Given the description of an element on the screen output the (x, y) to click on. 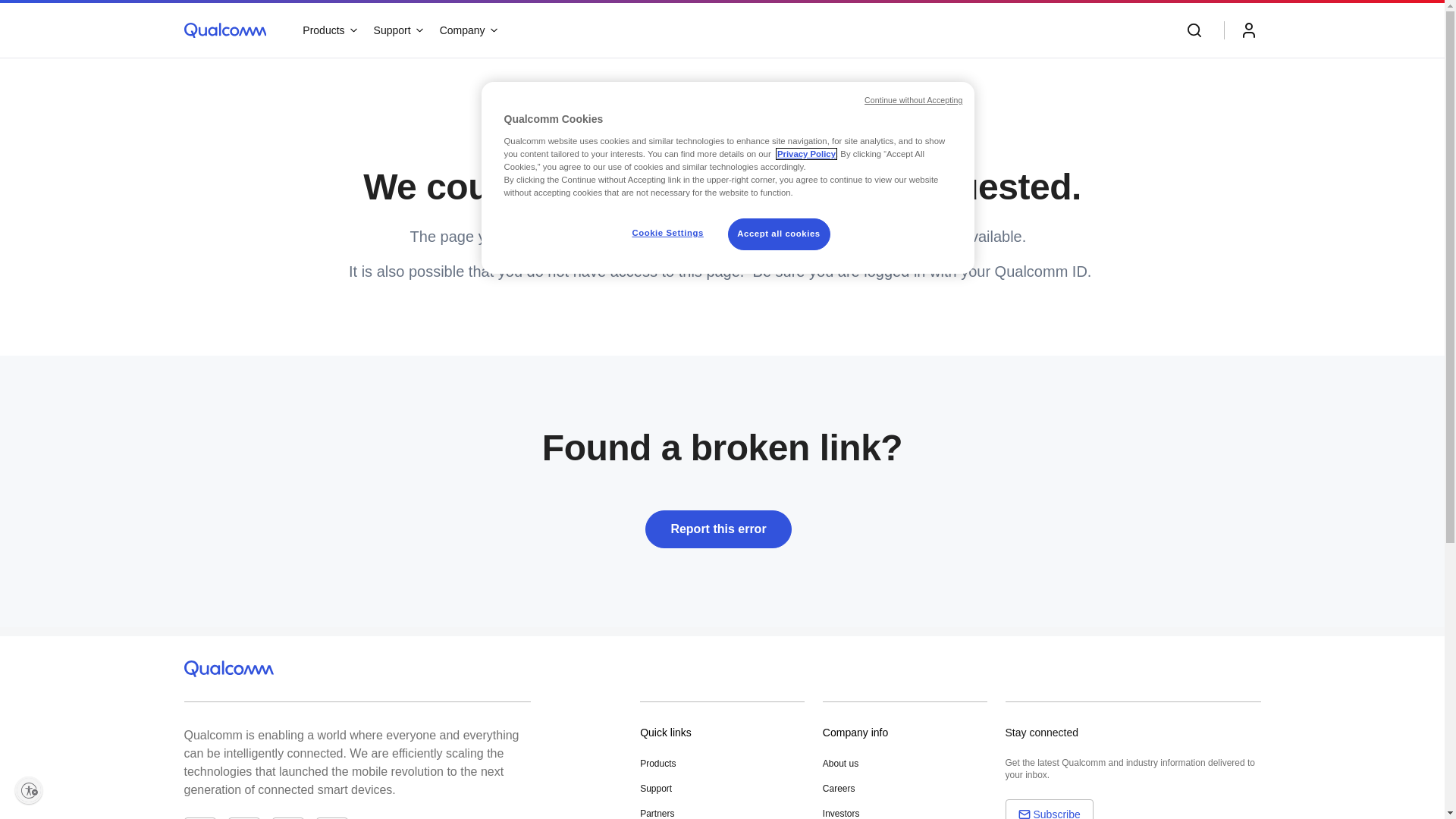
Company Element type: text (467, 29)
Products Element type: text (328, 29)
Enable accessibility Element type: text (28, 789)
About us Element type: text (840, 763)
Products Element type: text (657, 763)
Careers Element type: text (838, 788)
Report this error Element type: text (721, 532)
Accept all cookies Element type: text (779, 234)
Continue without Accepting Element type: text (913, 100)
Support Element type: text (655, 788)
Privacy Policy Element type: text (806, 153)
Cookie Settings Element type: text (667, 233)
Support Element type: text (397, 29)
